Given the description of an element on the screen output the (x, y) to click on. 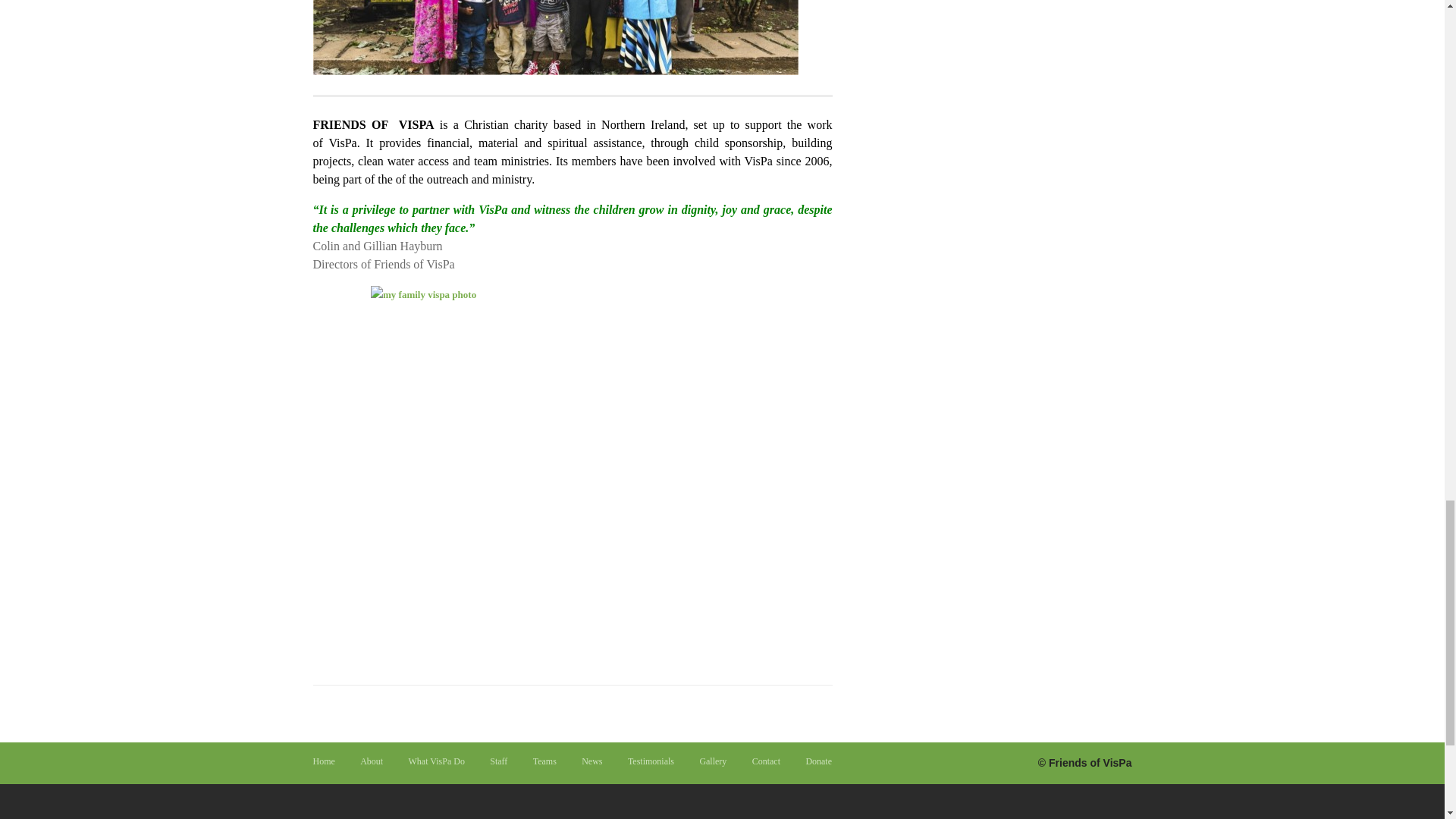
Staff (497, 760)
What VisPa Do (436, 760)
Donate (818, 760)
News (591, 760)
Gallery (712, 760)
Contact (766, 760)
About (370, 760)
Home (323, 760)
Testimonials (650, 760)
Teams (544, 760)
